Given the description of an element on the screen output the (x, y) to click on. 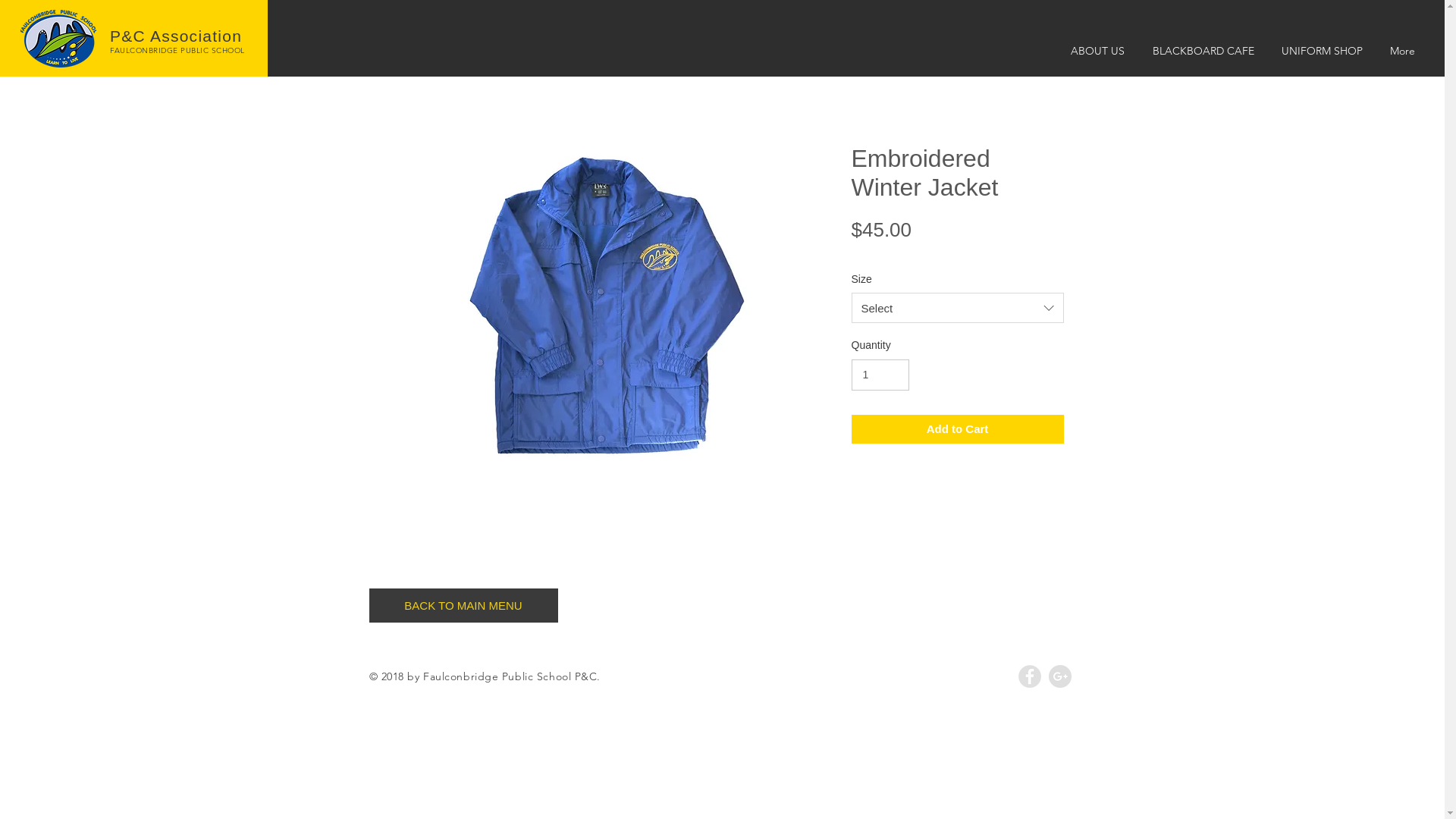
BACK TO MAIN MENU Element type: text (462, 605)
UNIFORM SHOP Element type: text (1321, 50)
FAULCONBRIDGE PUBLIC SCHOOL Element type: text (176, 50)
P&C Association Element type: text (175, 35)
BLACKBOARD CAFE Element type: text (1202, 50)
Add to Cart Element type: text (956, 429)
Select Element type: text (956, 307)
ABOUT US Element type: text (1097, 50)
